Given the description of an element on the screen output the (x, y) to click on. 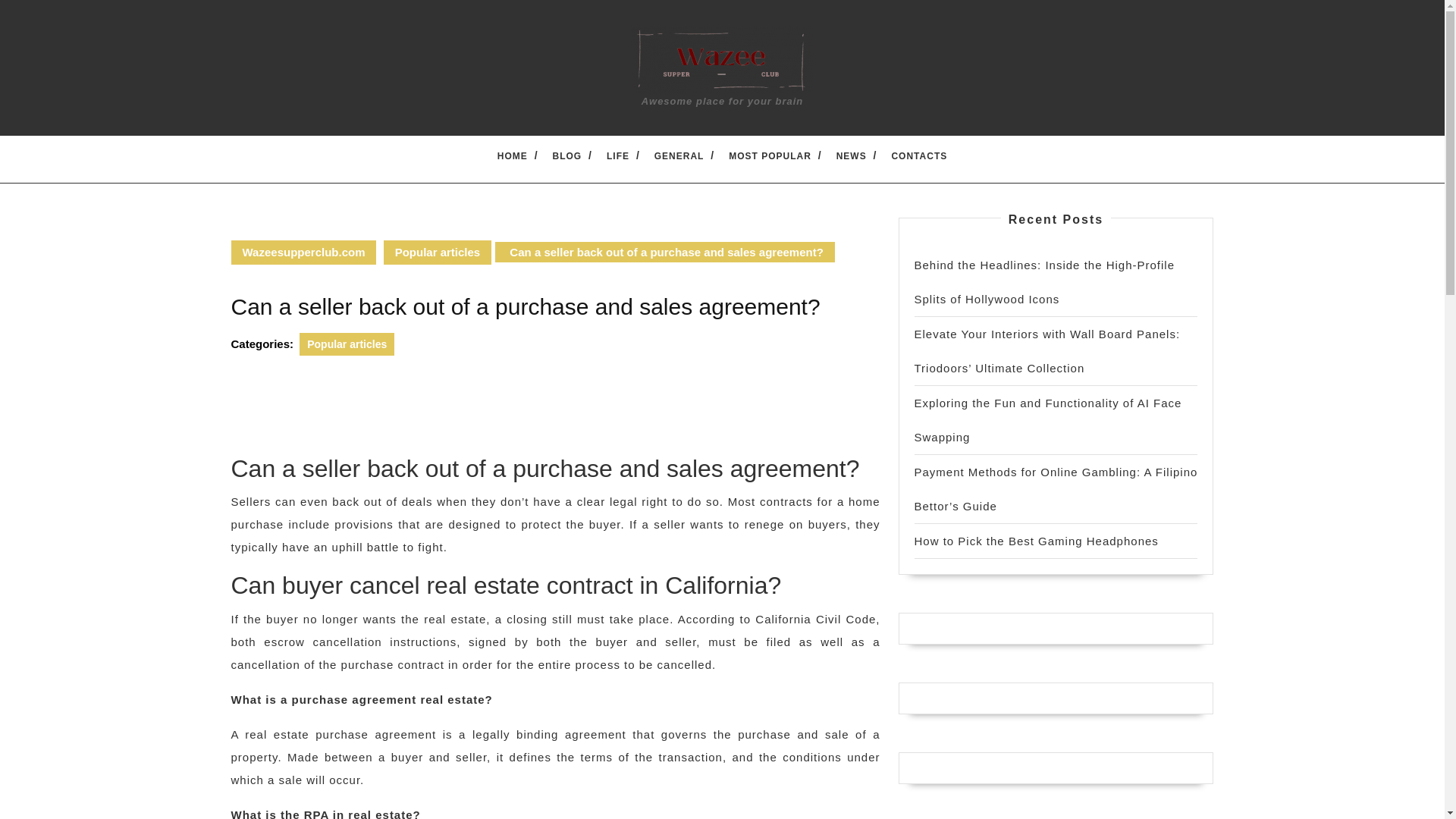
Exploring the Fun and Functionality of AI Face Swapping (1048, 419)
Wazeesupperclub.com (302, 251)
CONTACTS (918, 155)
How to Pick the Best Gaming Headphones (1036, 540)
BLOG (567, 155)
MOST POPULAR (770, 155)
HOME (512, 155)
Popular articles (346, 343)
NEWS (851, 155)
